Given the description of an element on the screen output the (x, y) to click on. 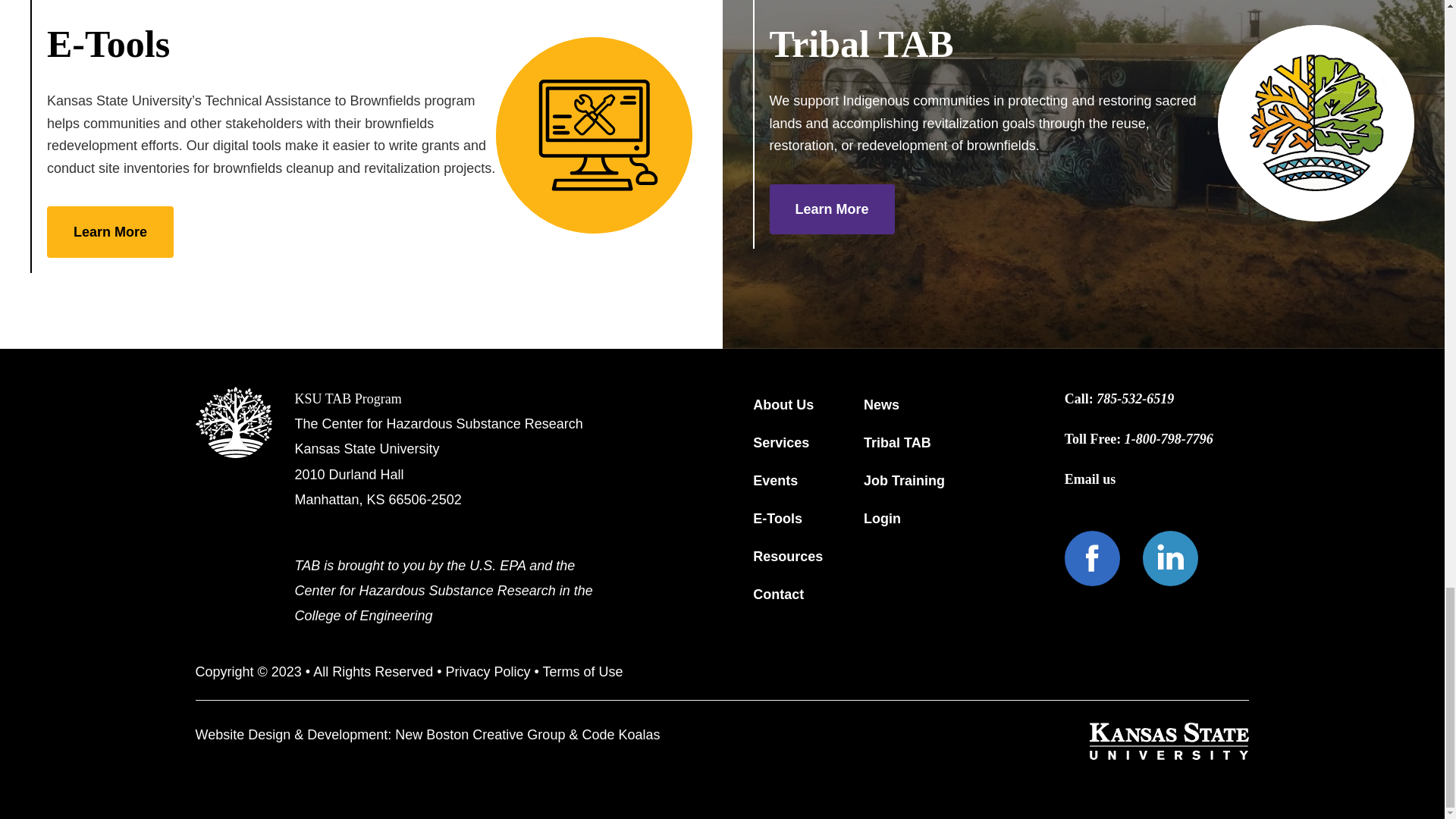
E-Tools (777, 519)
Services (781, 443)
About Us (783, 405)
Learn More (109, 231)
Learn More (830, 209)
Events (775, 481)
